Given the description of an element on the screen output the (x, y) to click on. 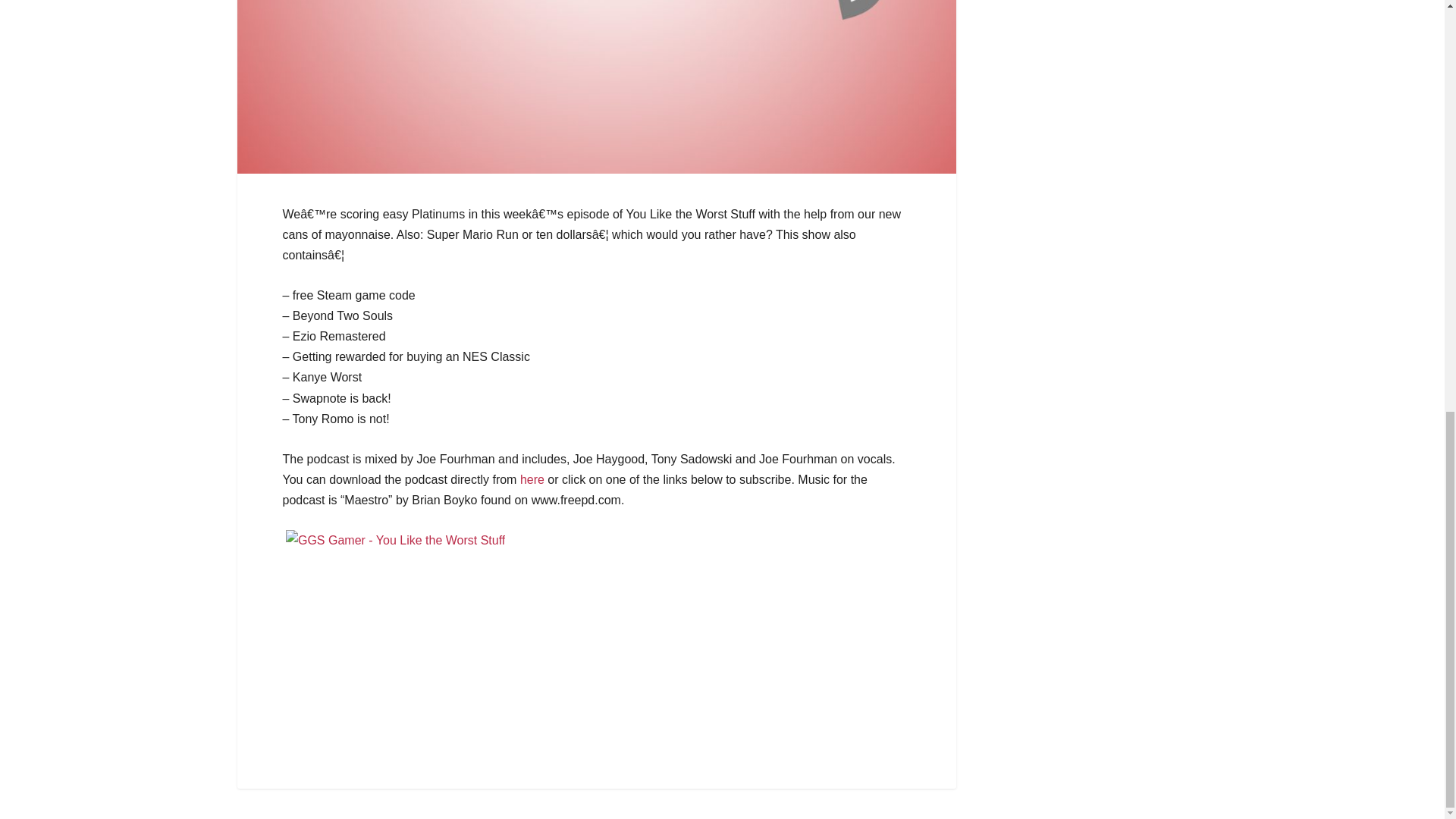
You Like the Worst Stuff Episode 207 (531, 479)
here (531, 479)
